Given the description of an element on the screen output the (x, y) to click on. 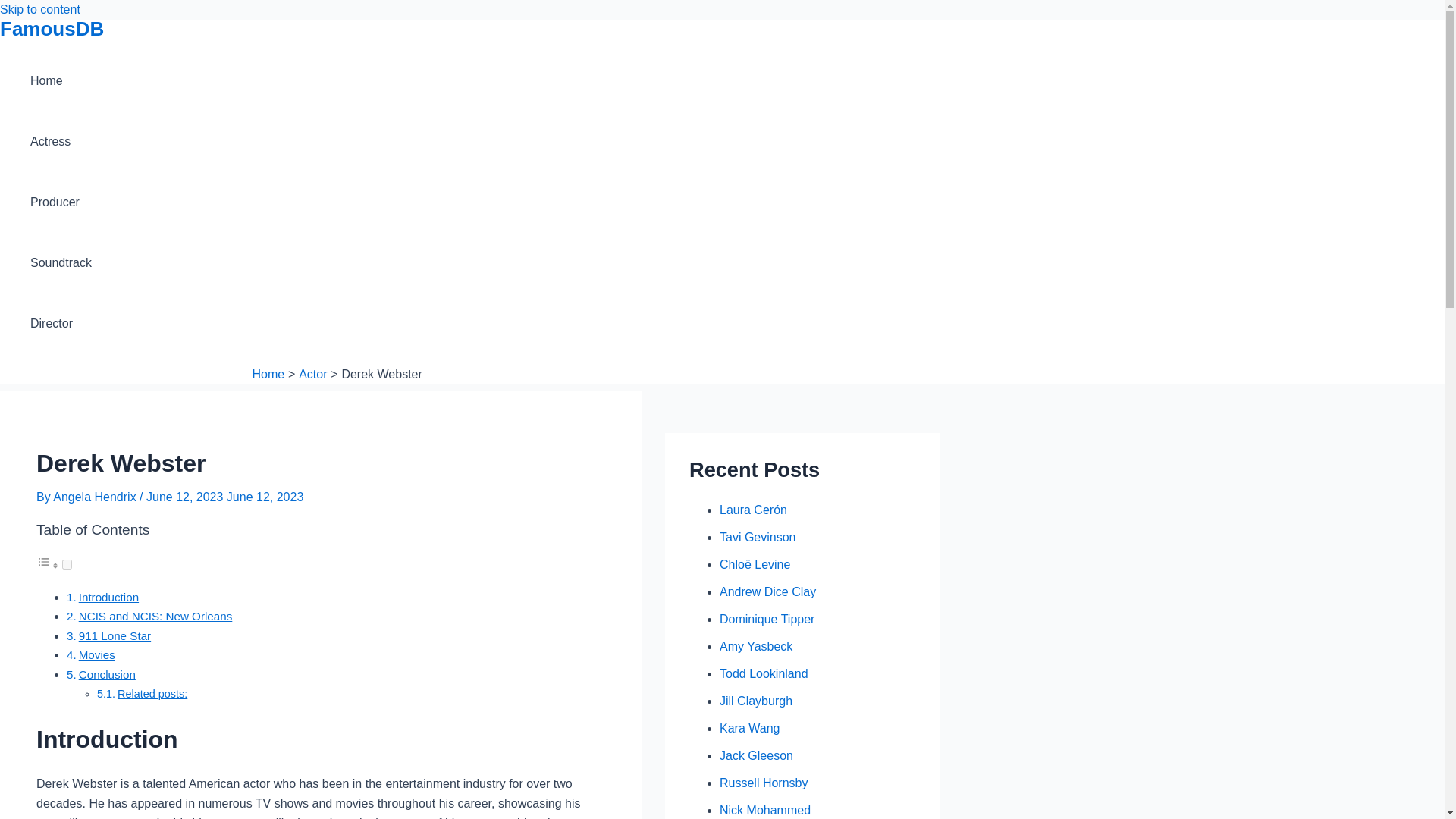
Nick Mohammed (764, 809)
Related posts: (152, 693)
Movies (96, 654)
Kara Wang (748, 727)
Soundtrack (60, 262)
Dominique Tipper (766, 618)
Angela Hendrix (95, 496)
Todd Lookinland (763, 673)
Actor (312, 373)
Jill Clayburgh (755, 700)
Director (60, 323)
Skip to content (40, 9)
911 Lone Star (114, 635)
Andrew Dice Clay (767, 591)
Tavi Gevinson (757, 536)
